Given the description of an element on the screen output the (x, y) to click on. 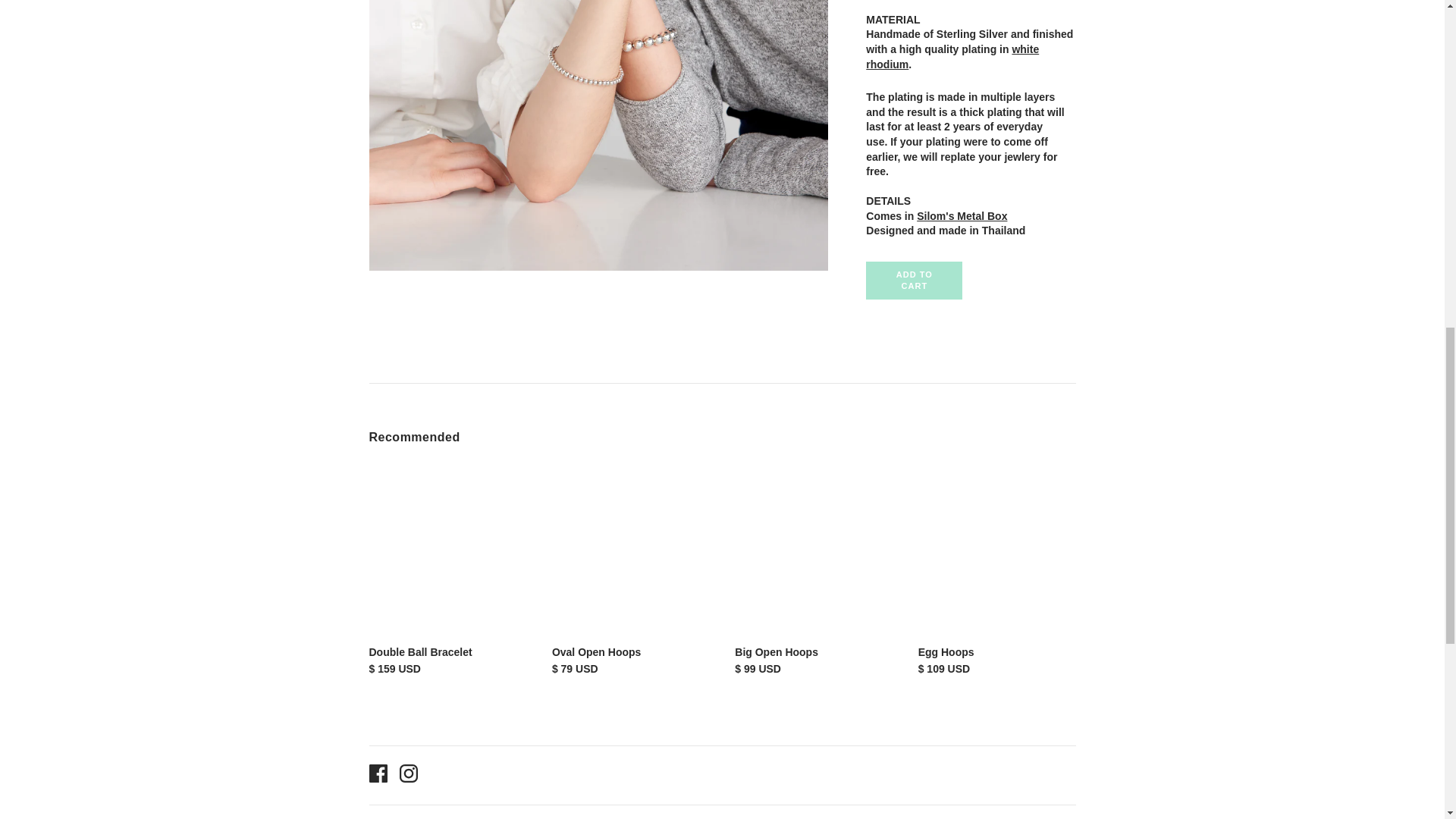
Egg Hoops (946, 652)
Big Open Hoops (776, 652)
Oval Open Hoops (595, 652)
Double Ball Bracelet (419, 652)
